Given the description of an element on the screen output the (x, y) to click on. 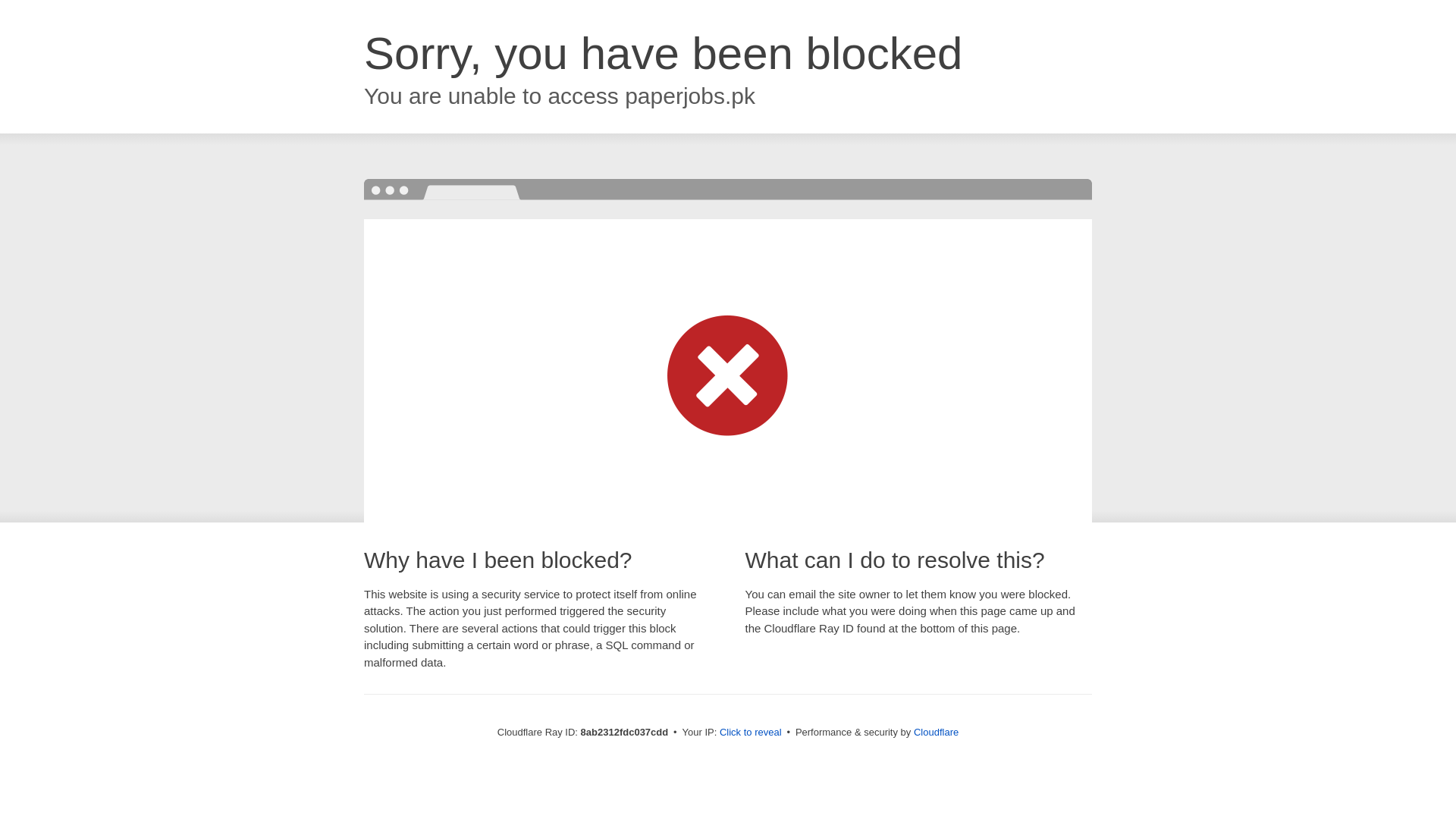
Click to reveal (750, 732)
Cloudflare (936, 731)
